Given the description of an element on the screen output the (x, y) to click on. 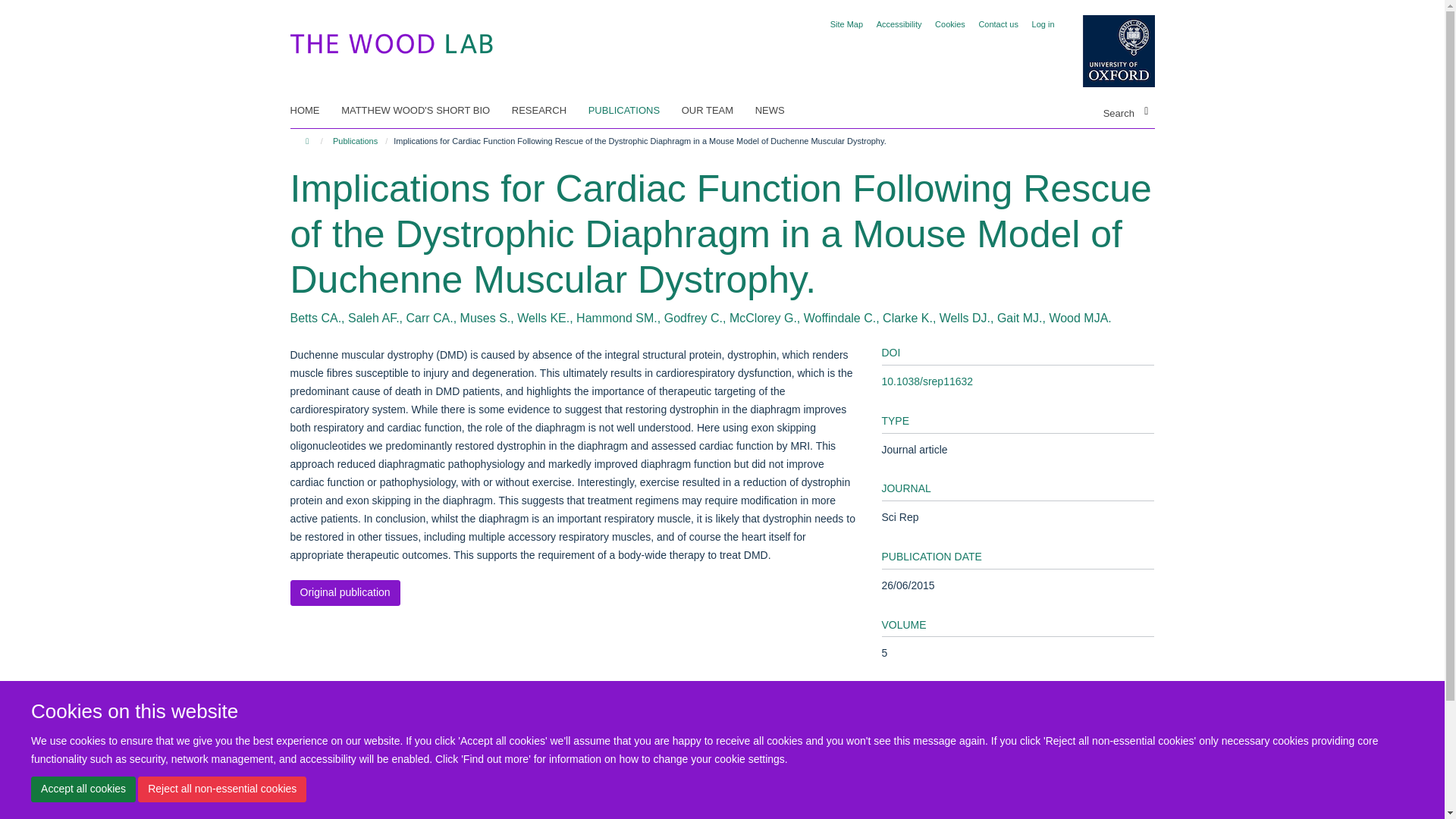
MATTHEW WOOD'S SHORT BIO (424, 110)
Cookies (949, 23)
Site Map (846, 23)
PUBLICATIONS (633, 110)
University of Oxford (1106, 50)
Accept all cookies (82, 789)
Log in (1043, 23)
Matthew Woods Group (391, 40)
Accessibility (898, 23)
Contact us (997, 23)
Reject all non-essential cookies (221, 789)
HOME (313, 110)
RESEARCH (548, 110)
OUR TEAM (716, 110)
